Given the description of an element on the screen output the (x, y) to click on. 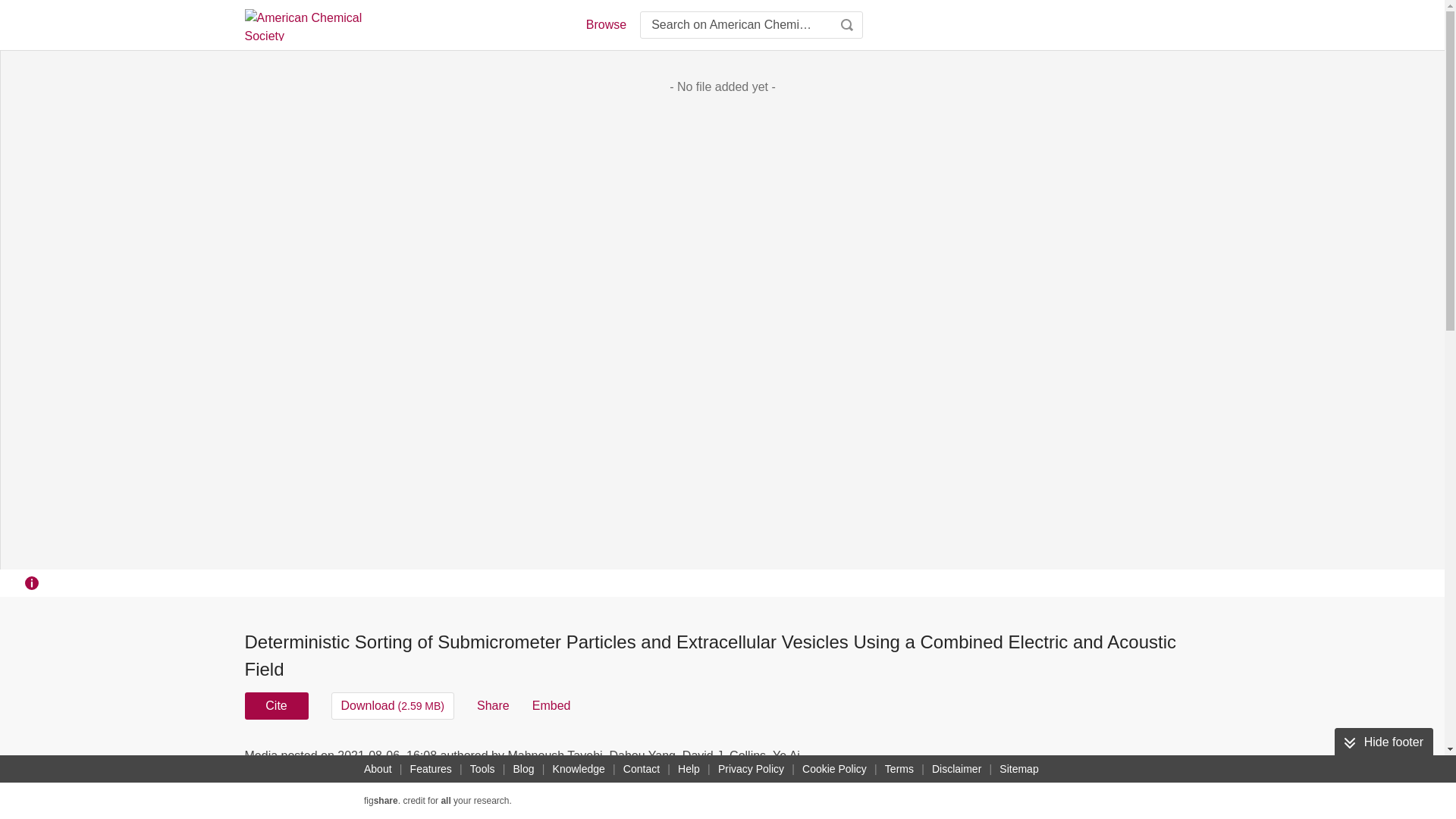
USAGE METRICS (976, 759)
About (377, 769)
Hide footer (1383, 742)
Share (493, 705)
Cite (275, 705)
Browse (605, 24)
Embed (551, 705)
Features (431, 769)
